Given the description of an element on the screen output the (x, y) to click on. 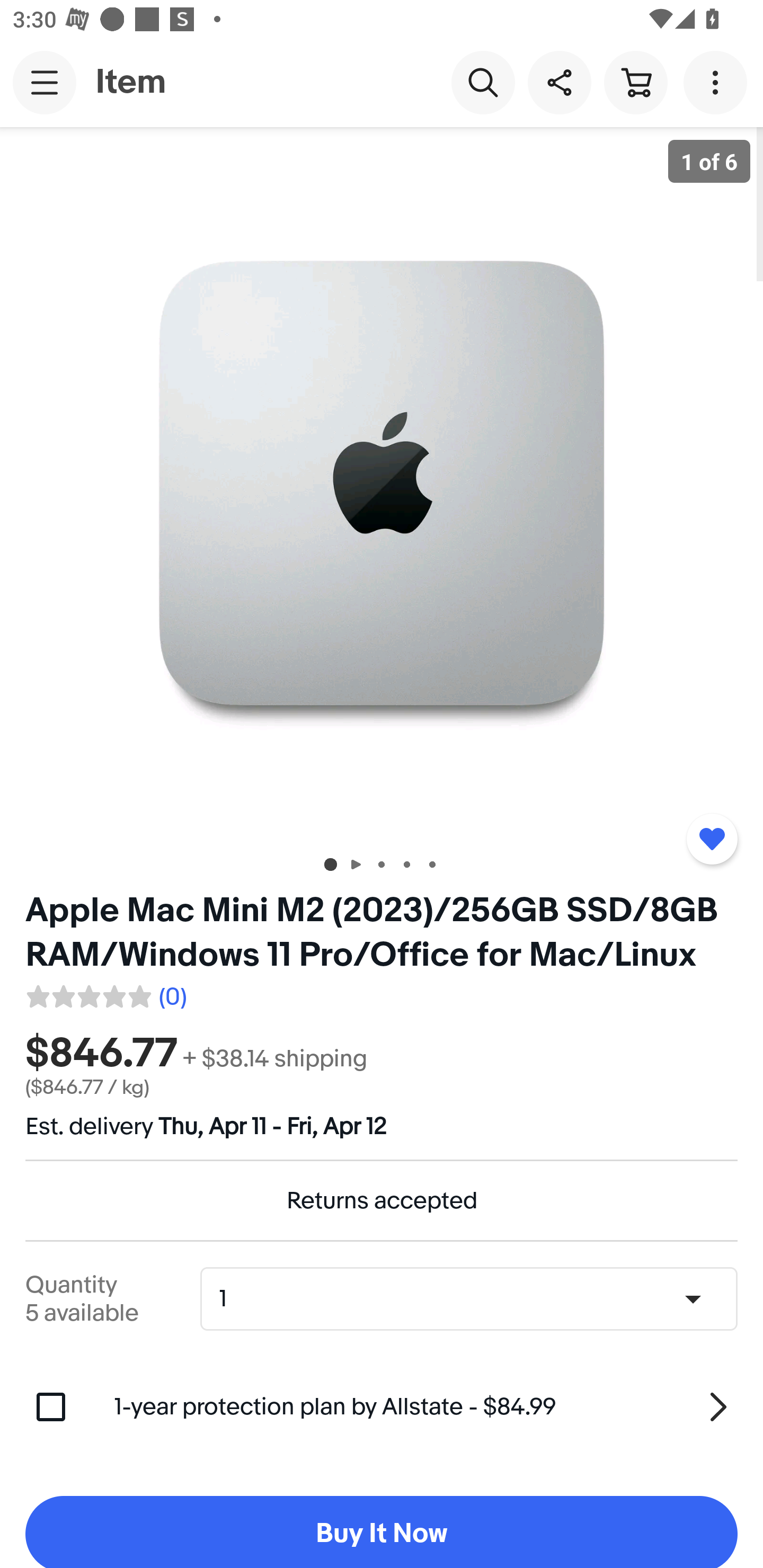
Main navigation, open (44, 82)
Search (482, 81)
Share this item (559, 81)
Cart button shopping cart (635, 81)
More options (718, 81)
Item image 1 of 6 (381, 482)
Added to watchlist (711, 838)
0 reviews. Average rating 0.0 out of five 0.0 (0) (105, 993)
Quantity,1,5 available 1 (474, 1298)
1-year protection plan by Allstate - $84.99 (425, 1406)
Buy It Now (381, 1531)
